Given the description of an element on the screen output the (x, y) to click on. 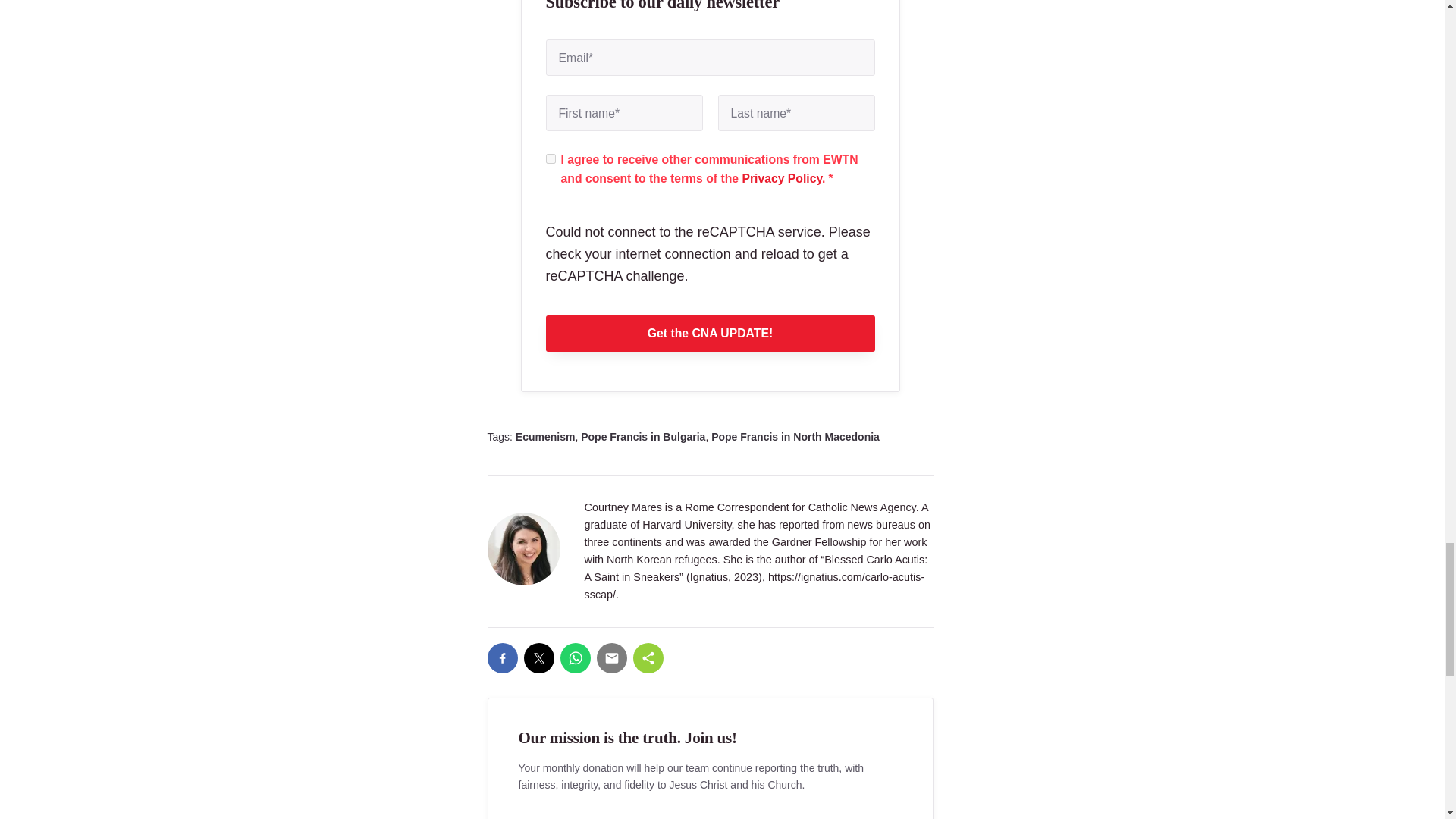
Get the CNA UPDATE! (710, 333)
true (551, 158)
